Given the description of an element on the screen output the (x, y) to click on. 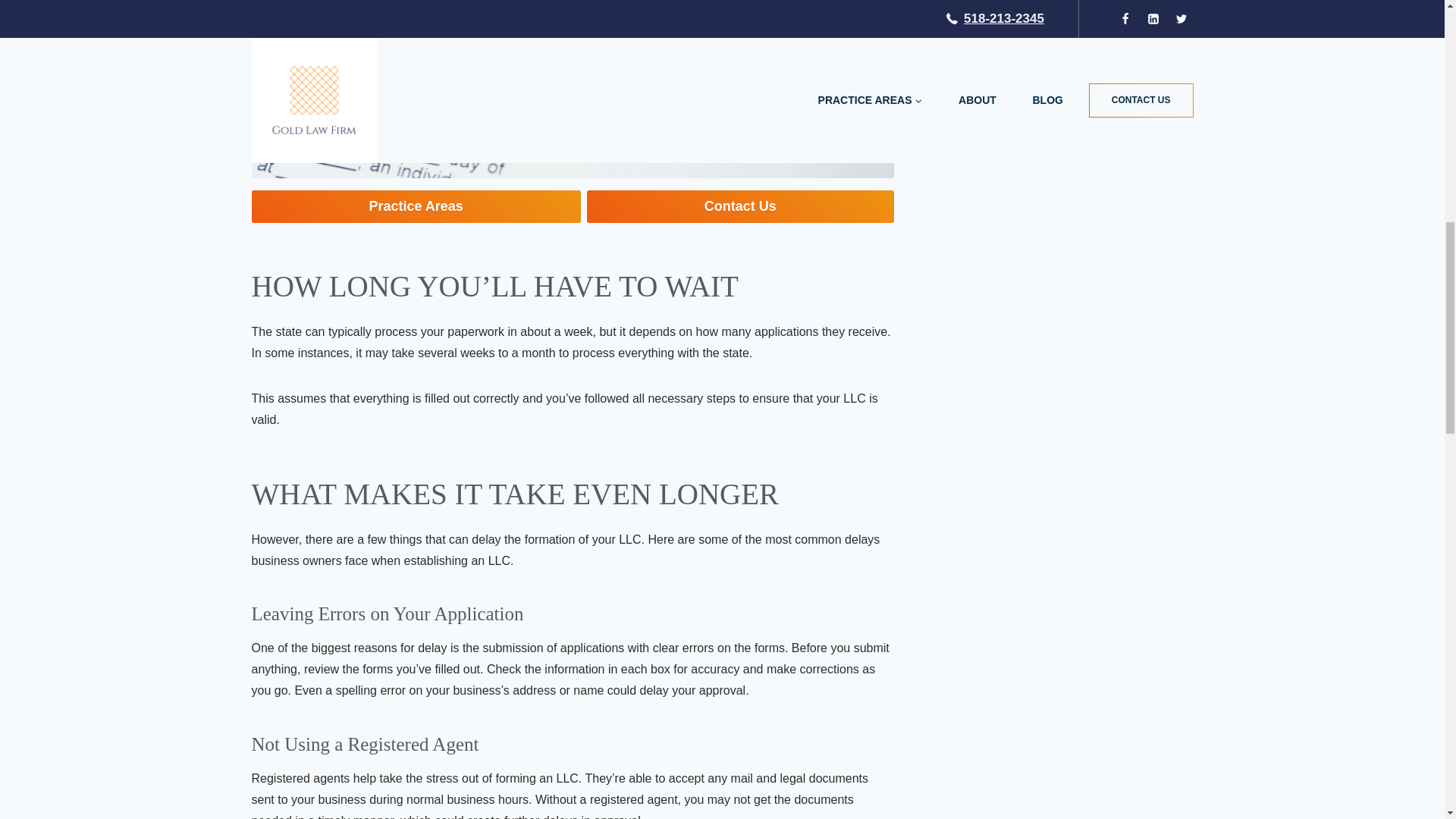
NONPROFITS (984, 8)
Practice Areas (415, 206)
Contact Us (739, 206)
